Given the description of an element on the screen output the (x, y) to click on. 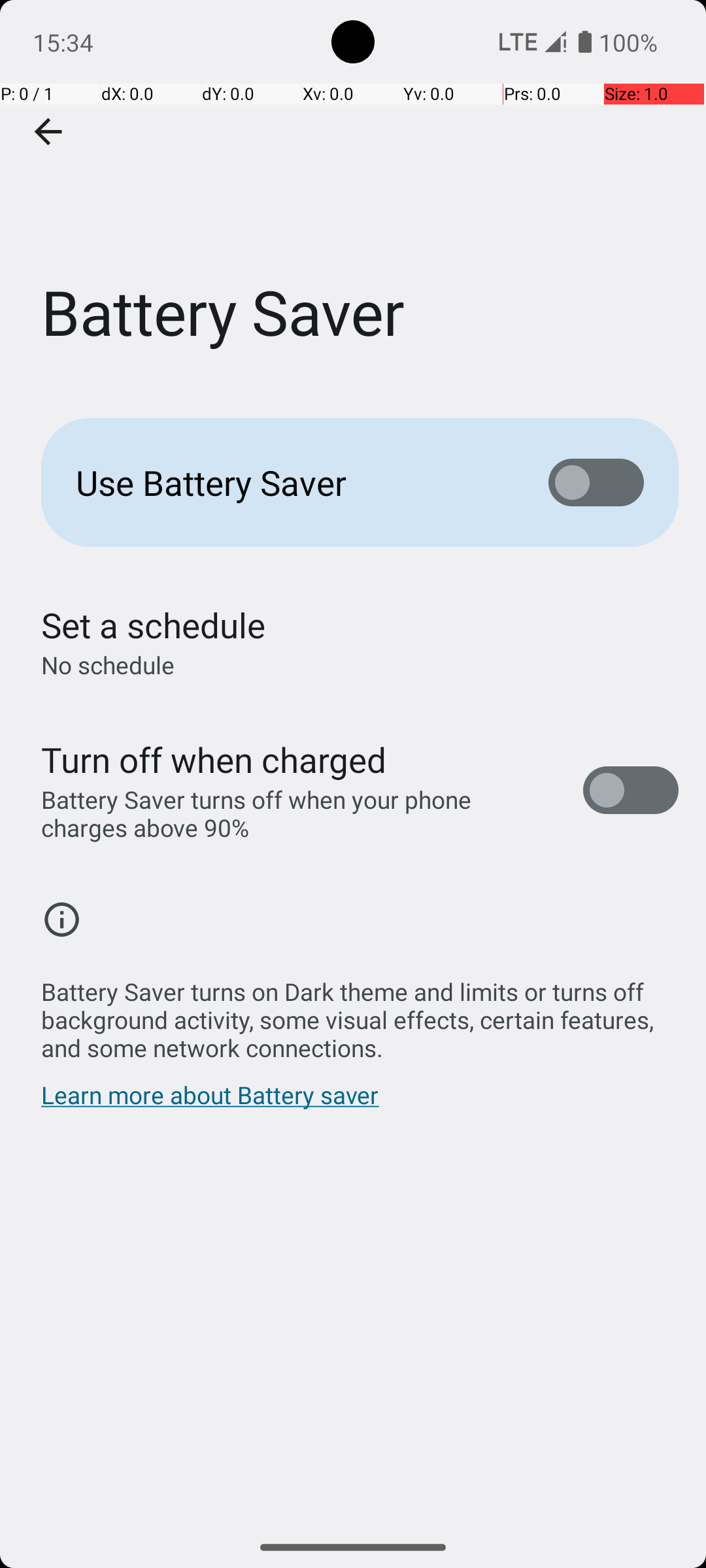
Use Battery Saver Element type: android.widget.TextView (291, 482)
Set a schedule Element type: android.widget.TextView (153, 624)
No schedule Element type: android.widget.TextView (107, 664)
Turn off when charged Element type: android.widget.TextView (213, 759)
Battery Saver turns off when your phone charges above 90% Element type: android.widget.TextView (298, 813)
Battery Saver turns on Dark theme and limits or turns off background activity, some visual effects, certain features, and some network connections. Element type: android.widget.TextView (359, 1012)
Learn more about Battery saver Element type: android.widget.TextView (210, 1101)
